Given the description of an element on the screen output the (x, y) to click on. 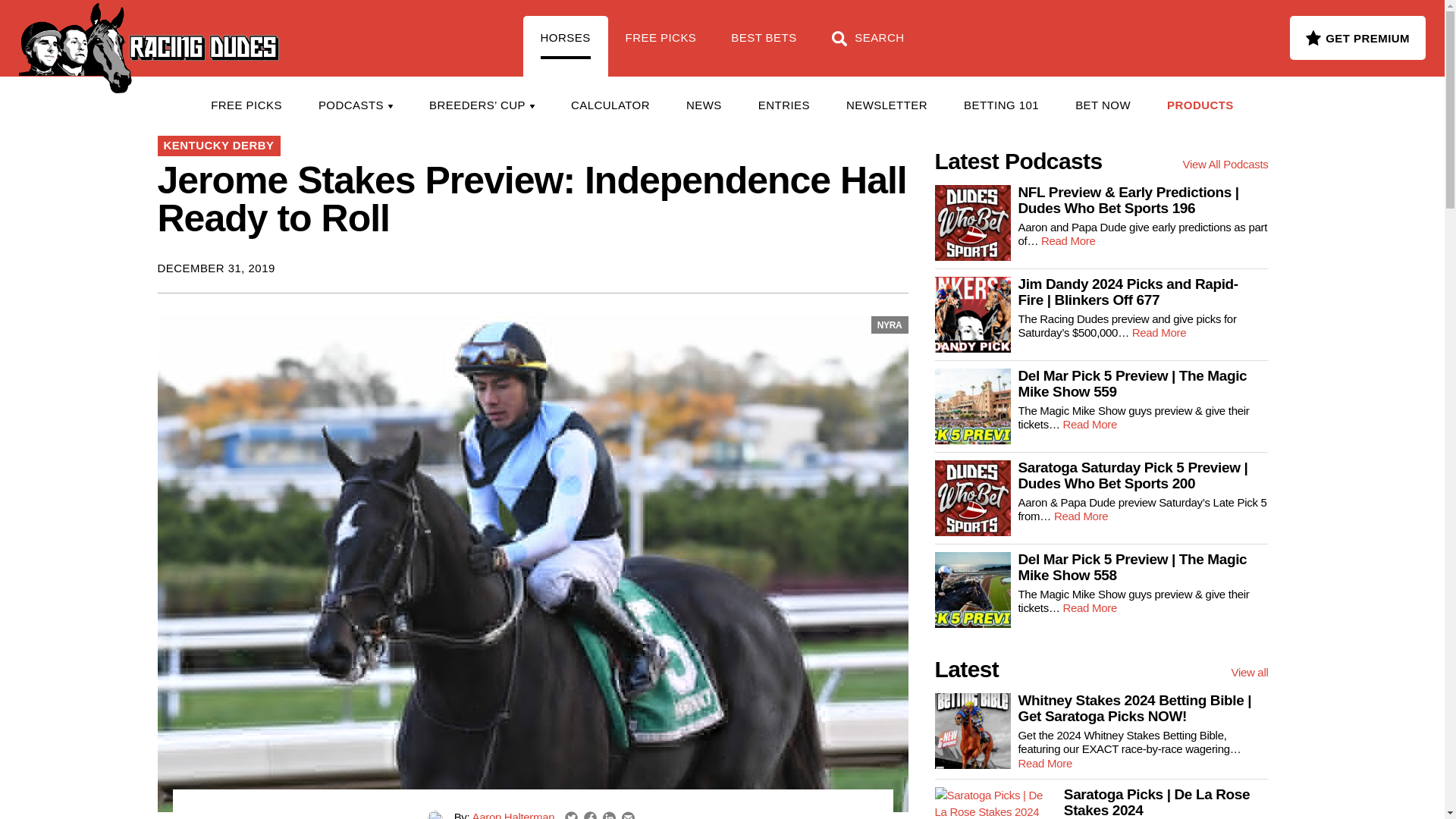
BEST BETS (763, 45)
GET PREMIUM (1357, 37)
 SEARCH (867, 45)
HORSES (565, 45)
Posts by Aaron Halterman (512, 814)
FREE PICKS (245, 105)
FREE PICKS (661, 45)
PODCASTS (354, 105)
